Given the description of an element on the screen output the (x, y) to click on. 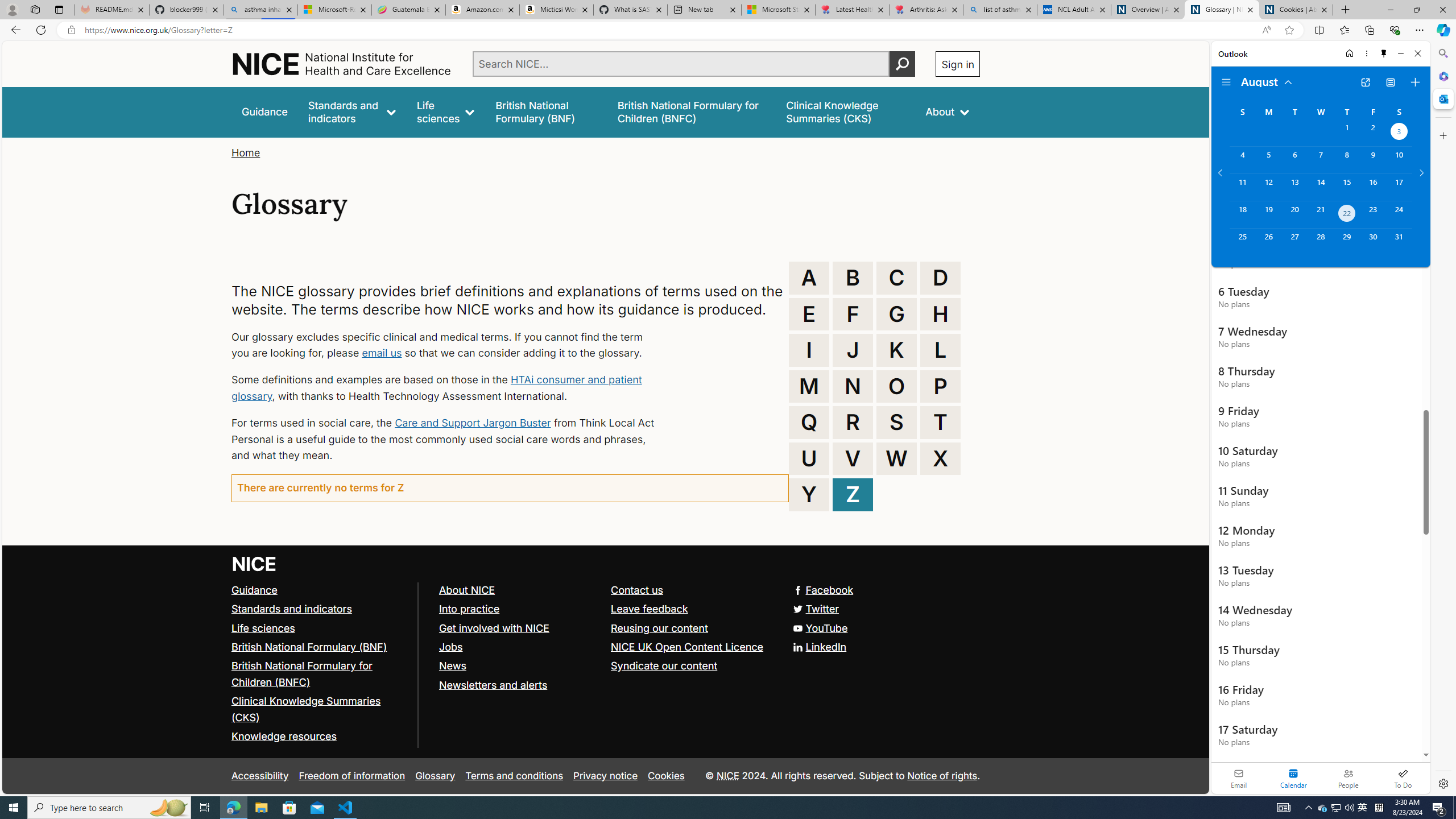
D (940, 277)
Folder navigation (1225, 82)
Y (809, 494)
About NICE (466, 589)
O (896, 385)
Glossary | NICE (1221, 9)
J (852, 350)
Z (852, 494)
H (940, 313)
